Given the description of an element on the screen output the (x, y) to click on. 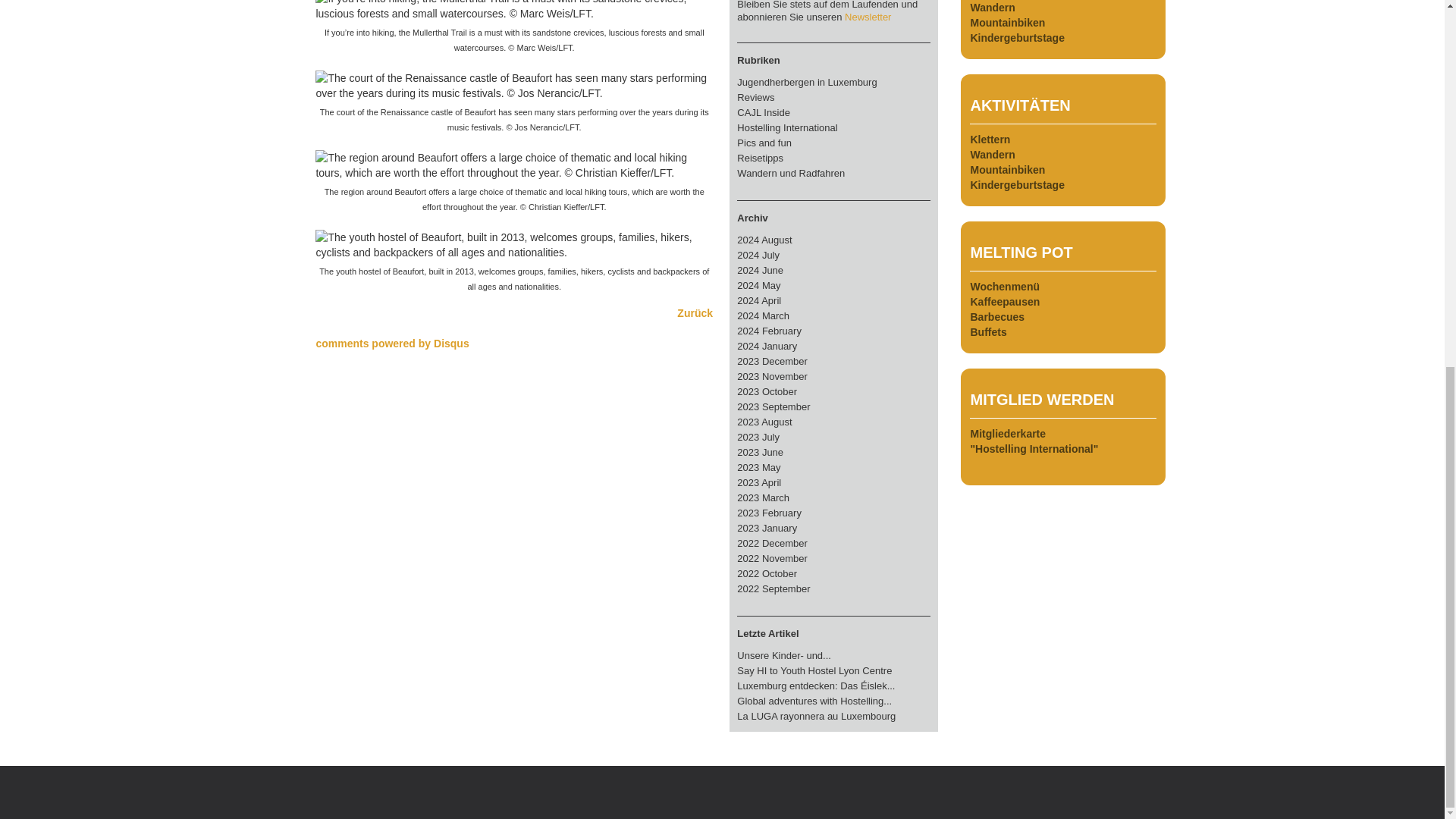
2024 March (762, 315)
comments powered by Disqus (391, 343)
2023 March (762, 497)
2023 October (766, 391)
Hostelling International (786, 127)
2023 November (772, 376)
2023 April (758, 482)
2023 July (757, 437)
Jugendherbergen in Luxemburg (806, 81)
2024 January (766, 346)
